Given the description of an element on the screen output the (x, y) to click on. 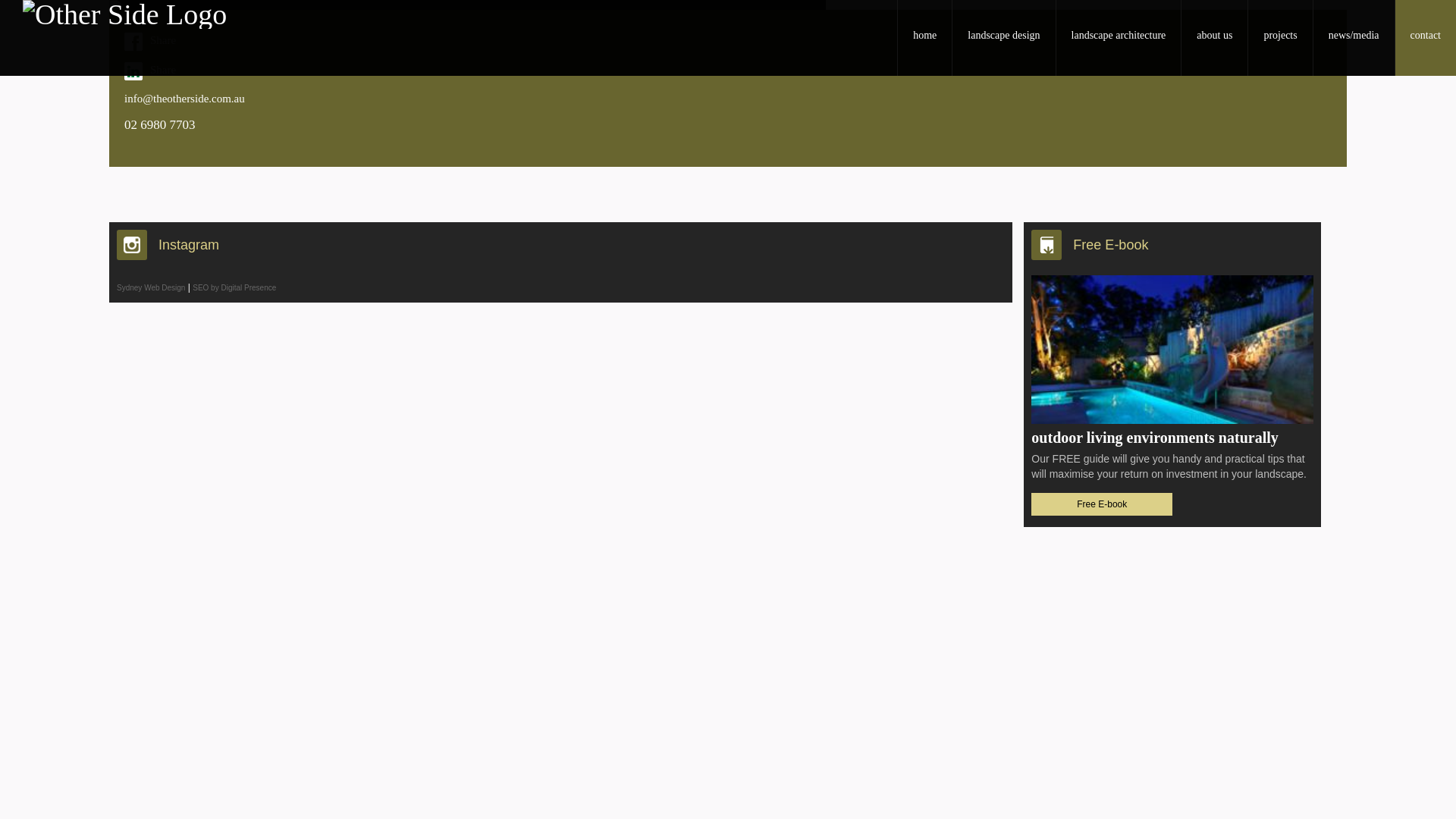
landscape architecture Element type: text (1118, 37)
projects Element type: text (1279, 37)
news/media Element type: text (1353, 37)
Share Element type: text (727, 71)
Sydney Web Design Element type: text (150, 287)
about us Element type: text (1213, 37)
home Element type: text (924, 37)
Share Element type: text (727, 41)
SEO by Digital Presence Element type: text (234, 287)
Free E-book Element type: text (1101, 503)
home page Element type: text (547, 18)
landscape design Element type: text (1002, 37)
info@theotherside.com.au Element type: text (727, 98)
